Given the description of an element on the screen output the (x, y) to click on. 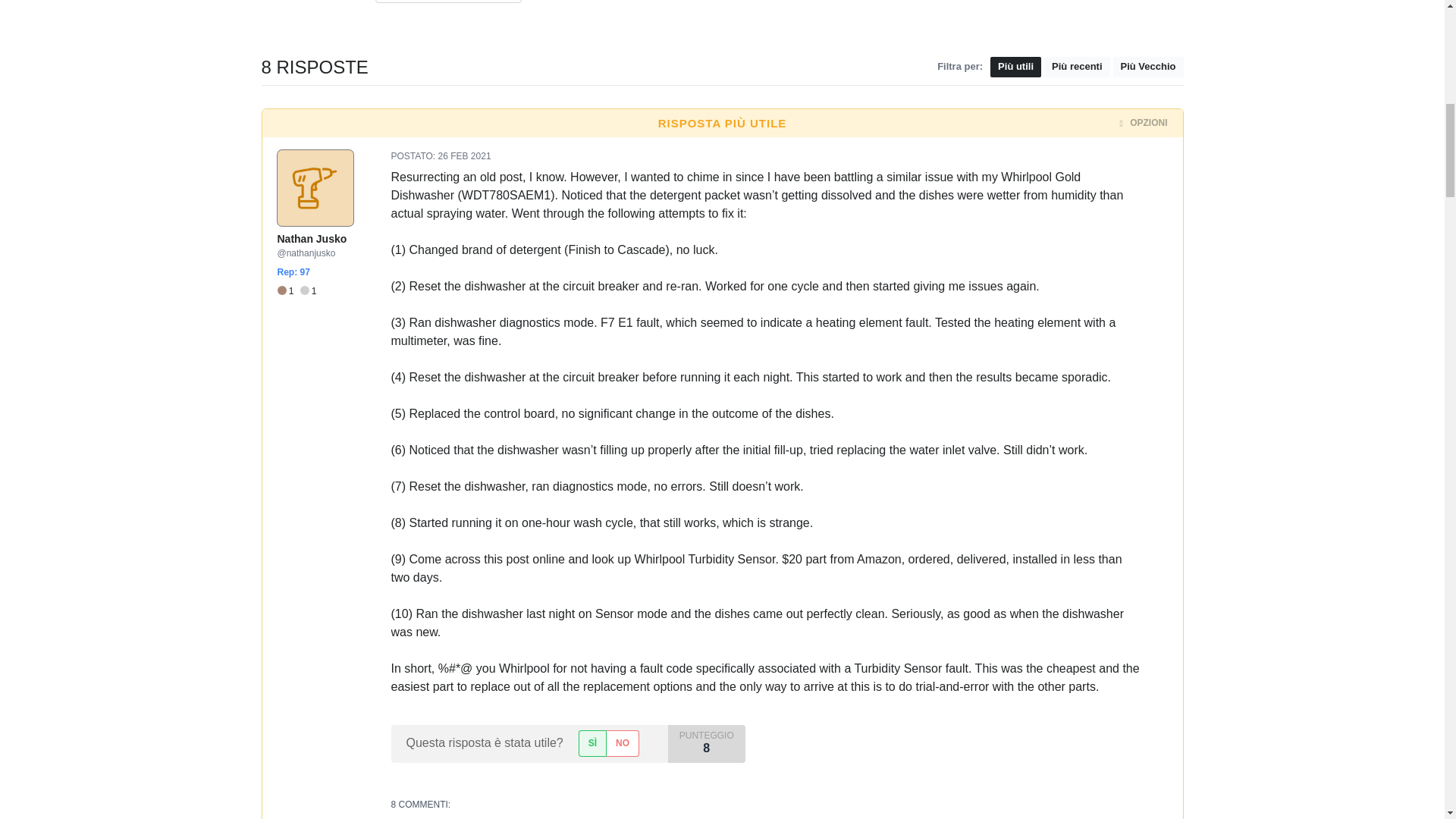
Fri, 26 Feb 2021 08:35:56 -0700 (465, 155)
1 Bronzo distintivi (288, 291)
1 Argento distintivi (308, 291)
